Given the description of an element on the screen output the (x, y) to click on. 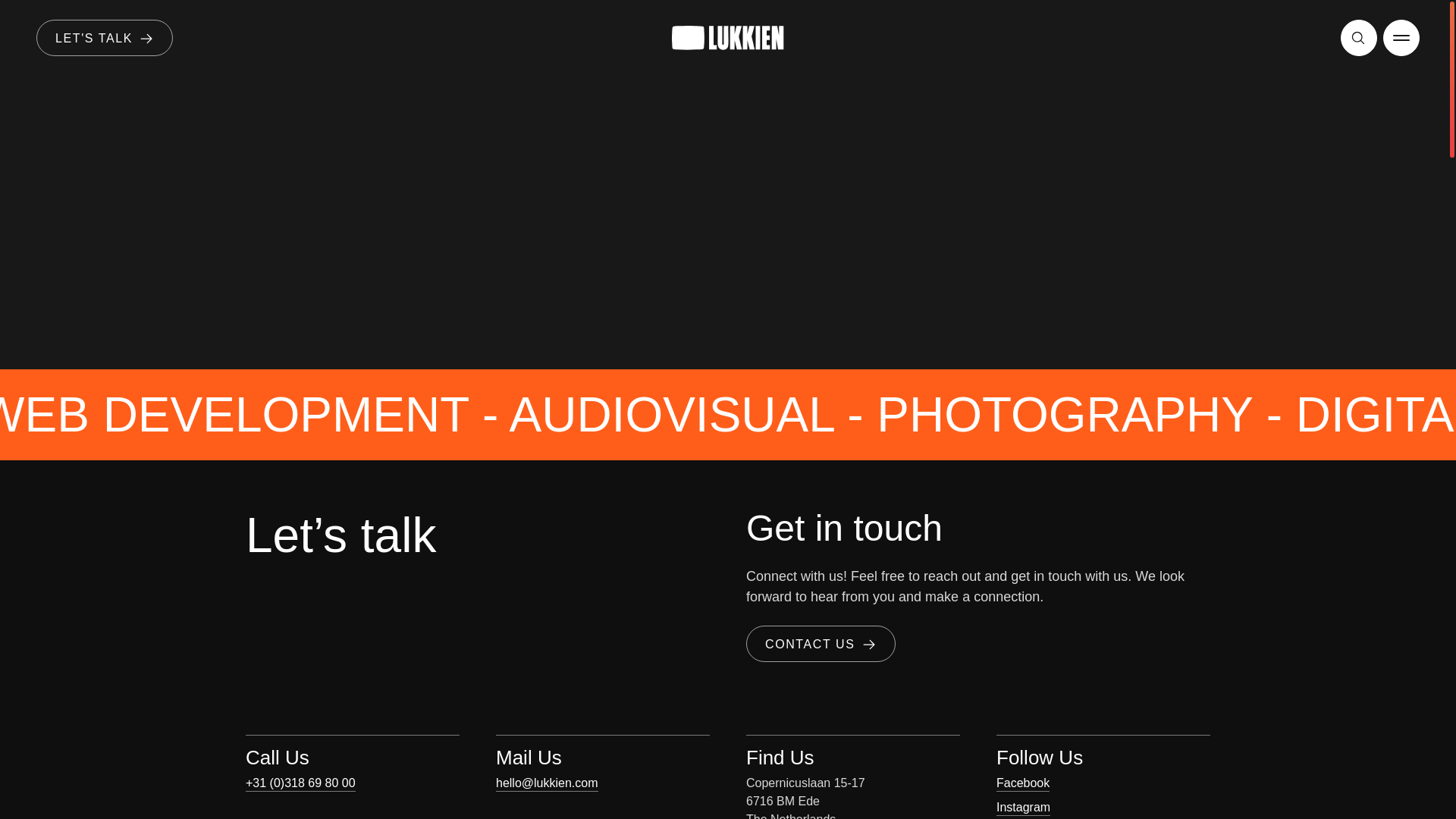
contact us (820, 643)
